Given the description of an element on the screen output the (x, y) to click on. 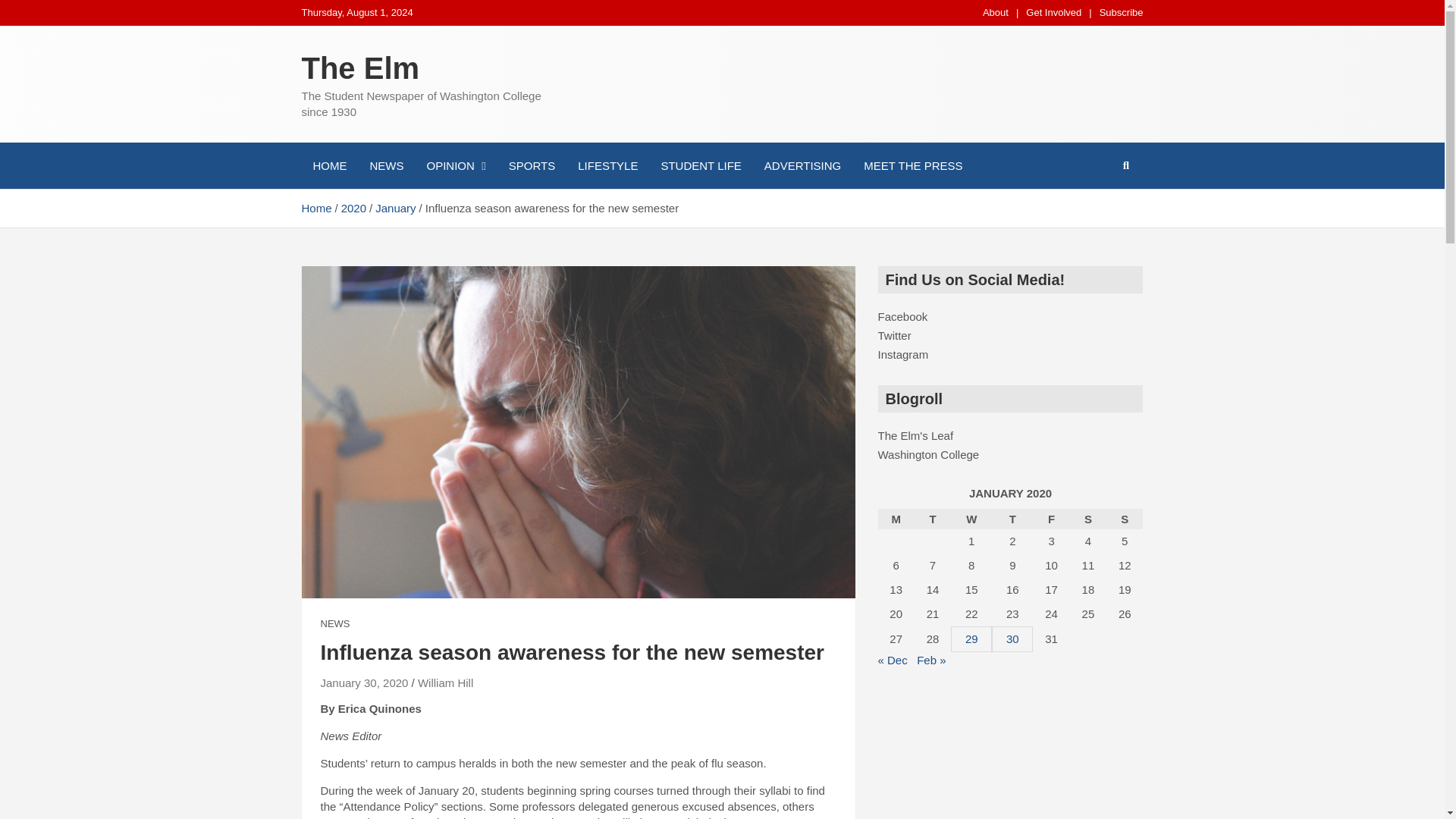
MEET THE PRESS (912, 165)
Tuesday (932, 518)
NEWS (334, 623)
William Hill (445, 682)
OPINION (455, 165)
ADVERTISING (801, 165)
January (394, 207)
Influenza season awareness for the new semester (363, 682)
Home (316, 207)
Facebook (902, 316)
SPORTS (531, 165)
NEWS (386, 165)
About (995, 12)
Monday (895, 518)
Thursday (1011, 518)
